Given the description of an element on the screen output the (x, y) to click on. 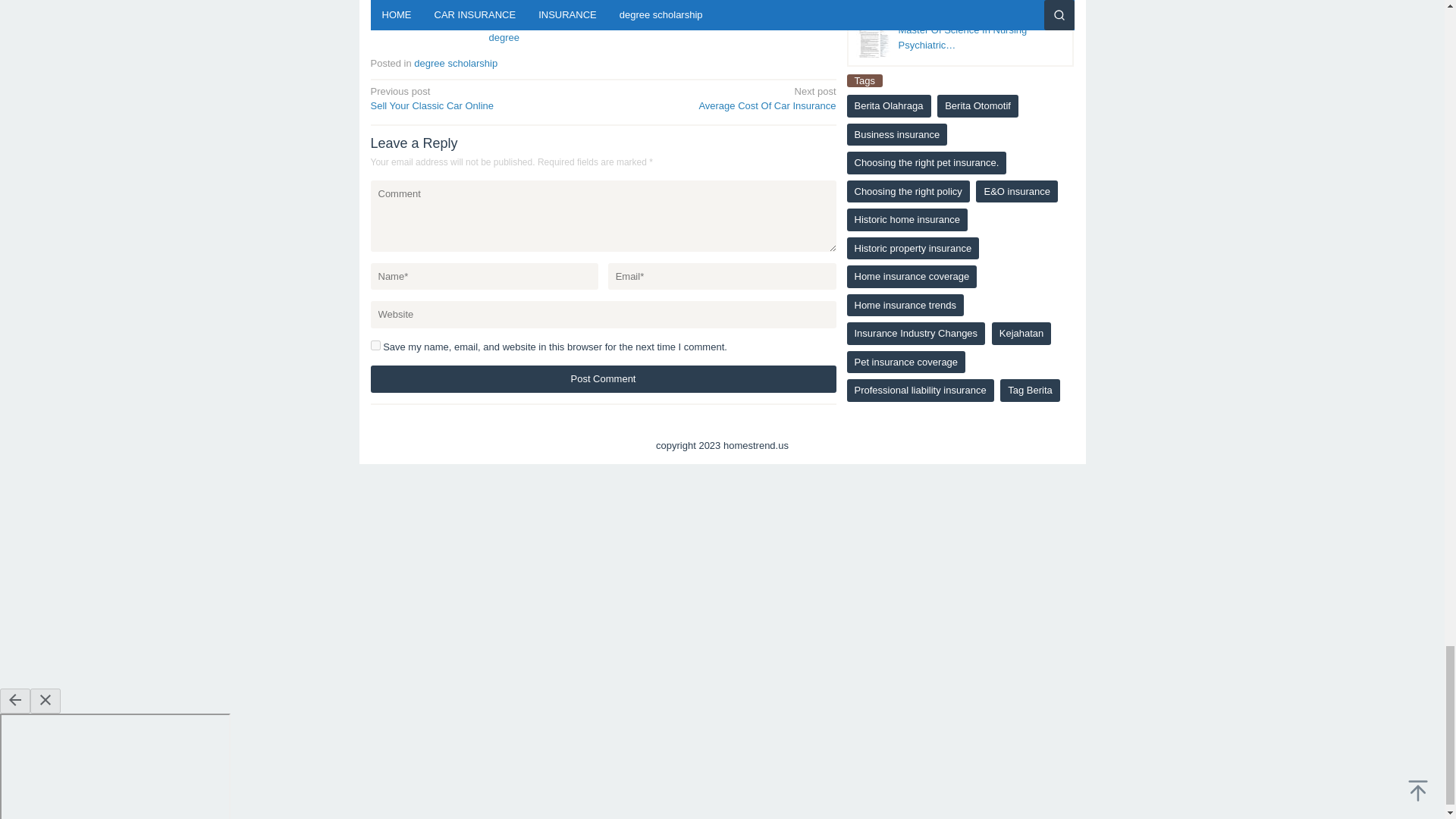
Post Comment (602, 379)
degree scholarship (723, 98)
Online Clinical Counseling Master degree (455, 62)
Online Criminal Justice Degree California (528, 22)
Post Comment (657, 15)
Top Online Counseling Degrees (602, 379)
How Many Years For A Master's Degree (418, 15)
yes (481, 98)
